Given the description of an element on the screen output the (x, y) to click on. 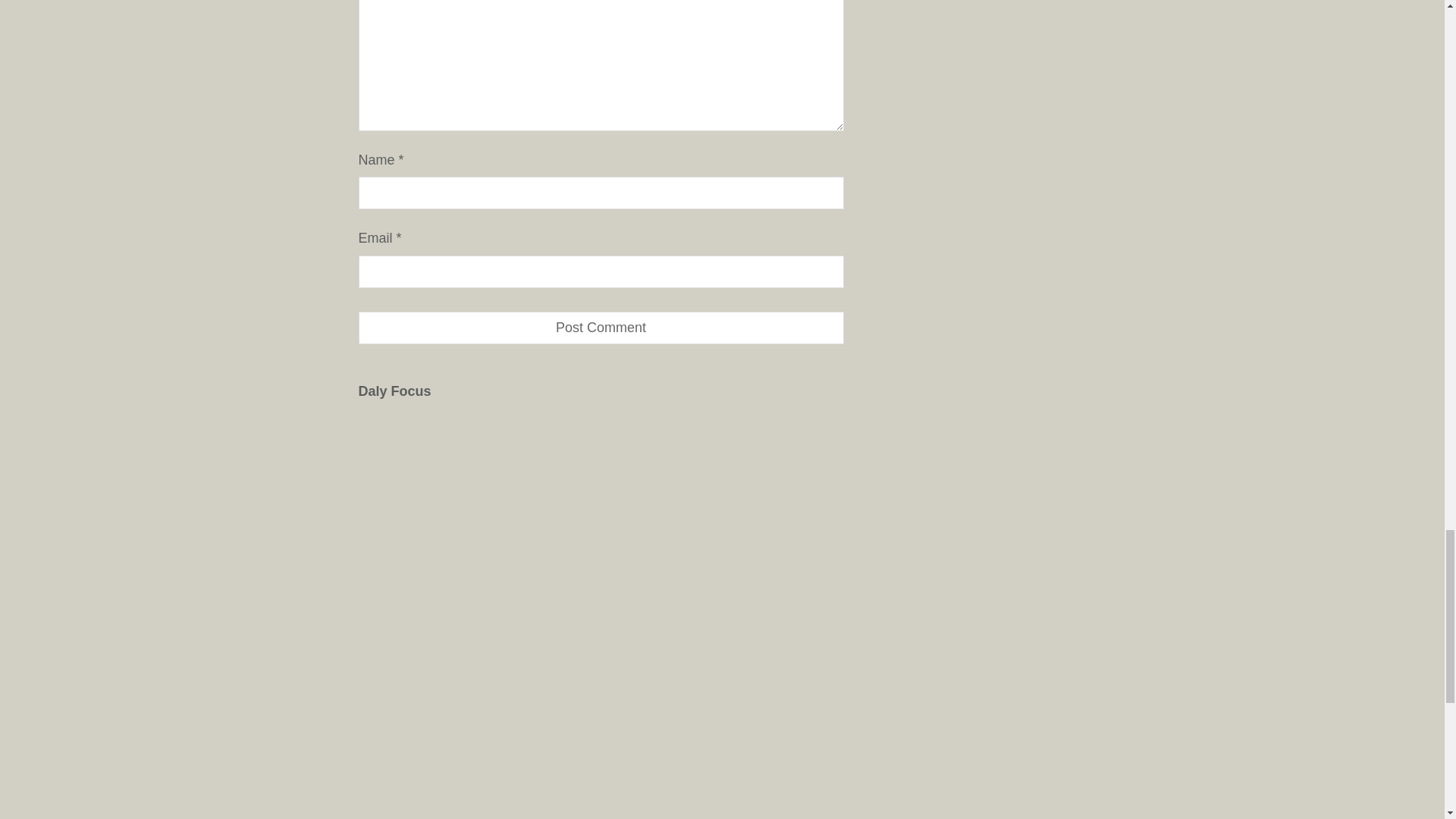
Post Comment (600, 327)
Post Comment (600, 327)
